Given the description of an element on the screen output the (x, y) to click on. 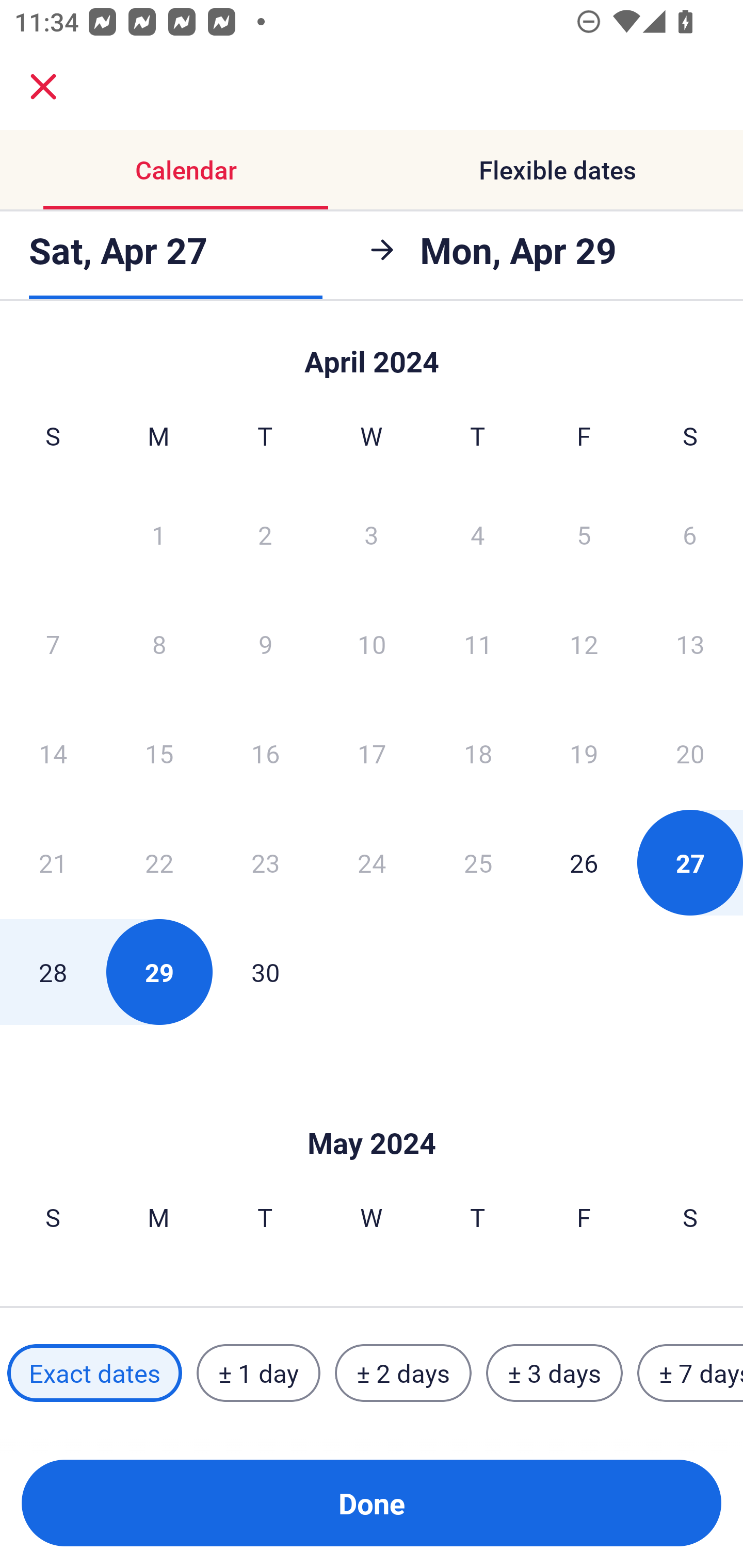
close. (43, 86)
Flexible dates (557, 170)
Skip to Done (371, 352)
1 Monday, April 1, 2024 (158, 534)
2 Tuesday, April 2, 2024 (264, 534)
3 Wednesday, April 3, 2024 (371, 534)
4 Thursday, April 4, 2024 (477, 534)
5 Friday, April 5, 2024 (583, 534)
6 Saturday, April 6, 2024 (689, 534)
7 Sunday, April 7, 2024 (53, 643)
8 Monday, April 8, 2024 (159, 643)
9 Tuesday, April 9, 2024 (265, 643)
10 Wednesday, April 10, 2024 (371, 643)
11 Thursday, April 11, 2024 (477, 643)
12 Friday, April 12, 2024 (584, 643)
13 Saturday, April 13, 2024 (690, 643)
14 Sunday, April 14, 2024 (53, 752)
15 Monday, April 15, 2024 (159, 752)
16 Tuesday, April 16, 2024 (265, 752)
17 Wednesday, April 17, 2024 (371, 752)
18 Thursday, April 18, 2024 (477, 752)
19 Friday, April 19, 2024 (584, 752)
20 Saturday, April 20, 2024 (690, 752)
21 Sunday, April 21, 2024 (53, 862)
22 Monday, April 22, 2024 (159, 862)
23 Tuesday, April 23, 2024 (265, 862)
24 Wednesday, April 24, 2024 (371, 862)
25 Thursday, April 25, 2024 (477, 862)
26 Friday, April 26, 2024 (584, 862)
30 Tuesday, April 30, 2024 (265, 971)
Skip to Done (371, 1112)
Exact dates (94, 1372)
± 1 day (258, 1372)
± 2 days (403, 1372)
± 3 days (553, 1372)
± 7 days (690, 1372)
Done (371, 1502)
